Given the description of an element on the screen output the (x, y) to click on. 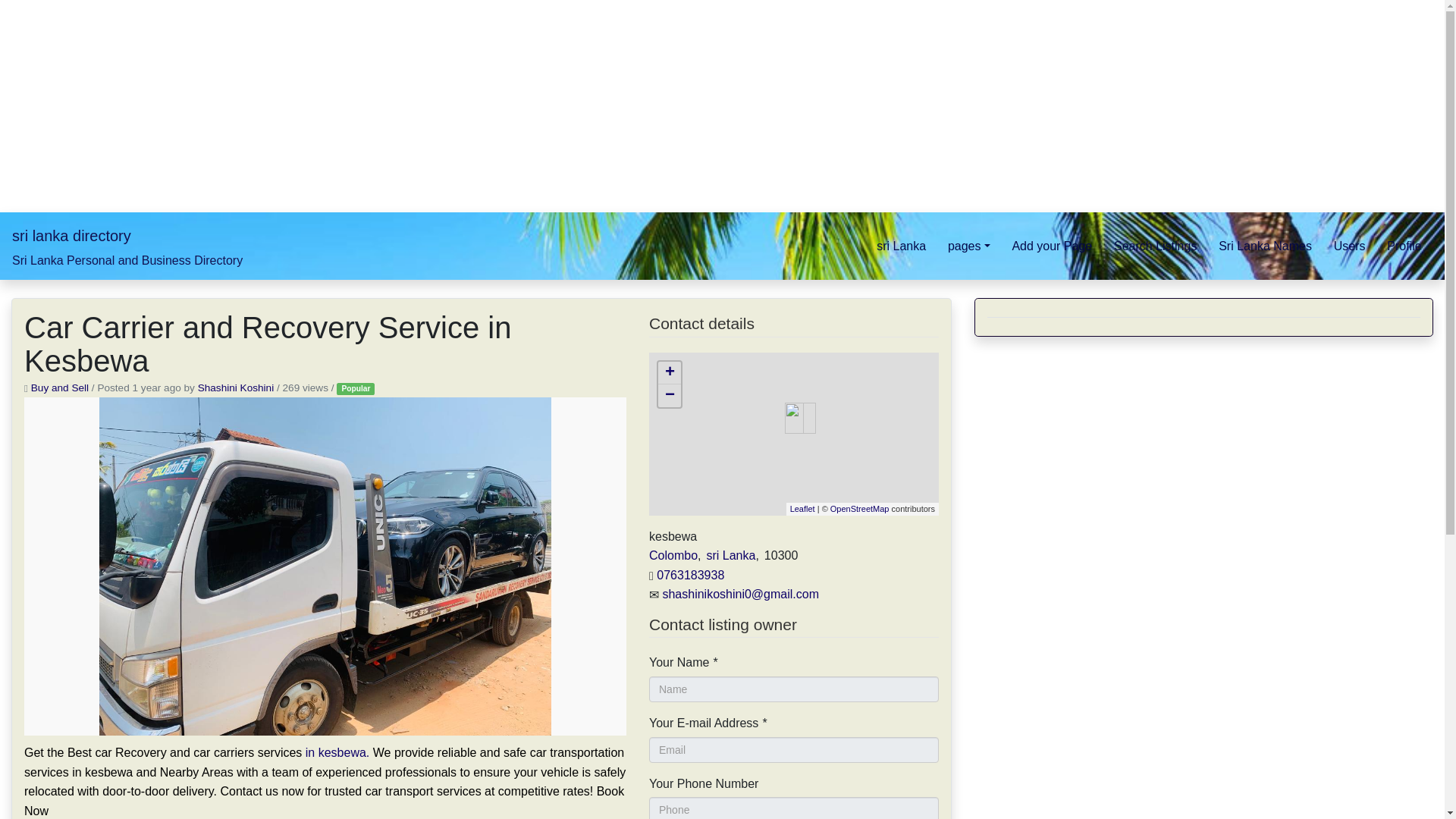
sri Lanka (901, 245)
in kesbewa. (337, 752)
Add your Page (1052, 245)
sri lanka directory (71, 235)
Sri Lanka Names (1265, 245)
Buy and Sell (59, 387)
pages (969, 245)
Shashini Koshini (236, 387)
0763183938 (689, 574)
Leaflet (802, 508)
A JS library for interactive maps (802, 508)
Sri Lanka Personal and Business Directory (127, 259)
Search Listings (1155, 245)
Profile (1403, 245)
OpenStreetMap (859, 508)
